Given the description of an element on the screen output the (x, y) to click on. 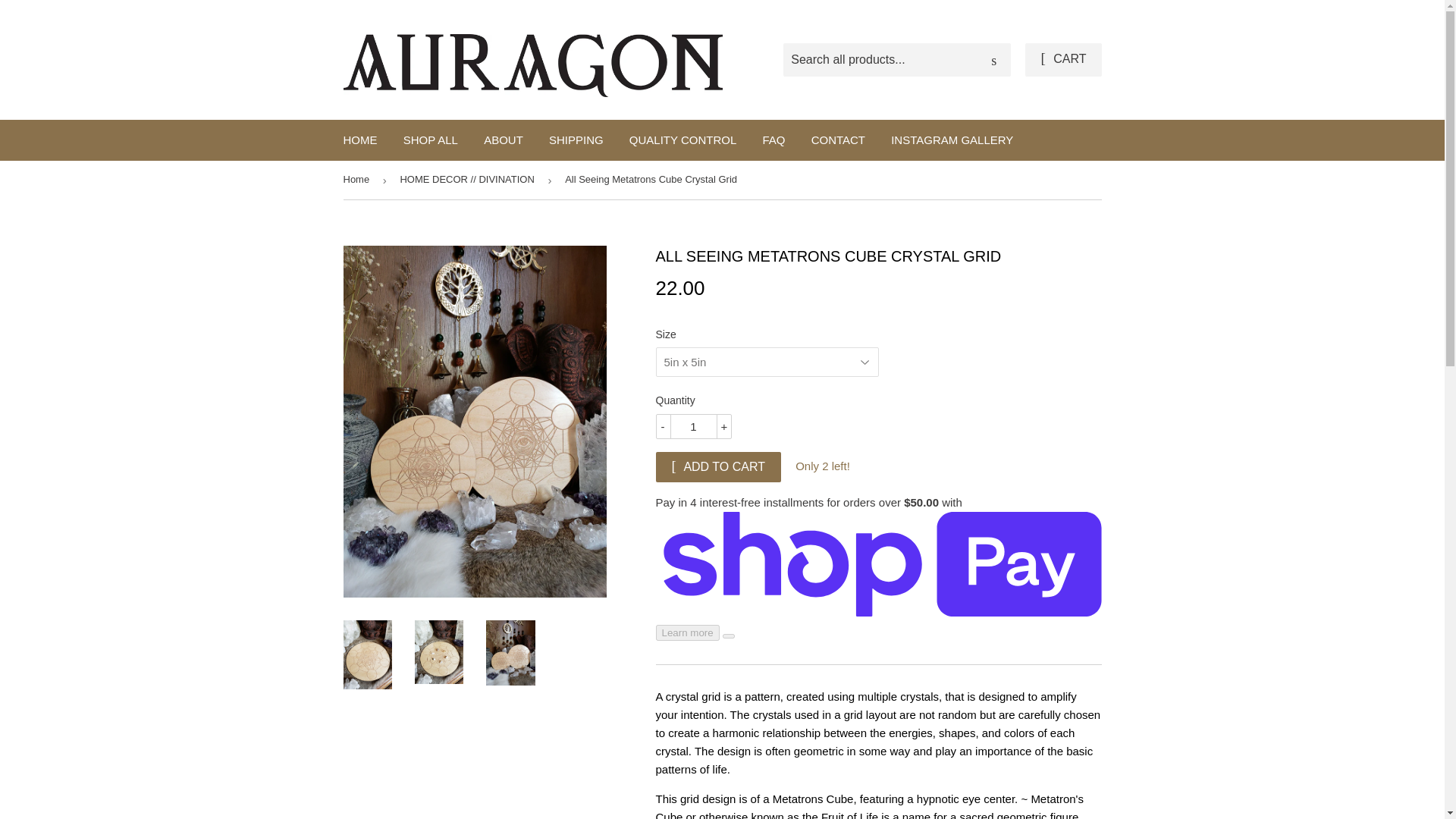
CONTACT (837, 139)
QUALITY CONTROL (682, 139)
FAQ (773, 139)
SHOP ALL (429, 139)
CART (1062, 59)
SHIPPING (575, 139)
INSTAGRAM GALLERY (952, 139)
1 (692, 426)
HOME (359, 139)
ADD TO CART (717, 467)
ABOUT (502, 139)
Search (993, 60)
